Given the description of an element on the screen output the (x, y) to click on. 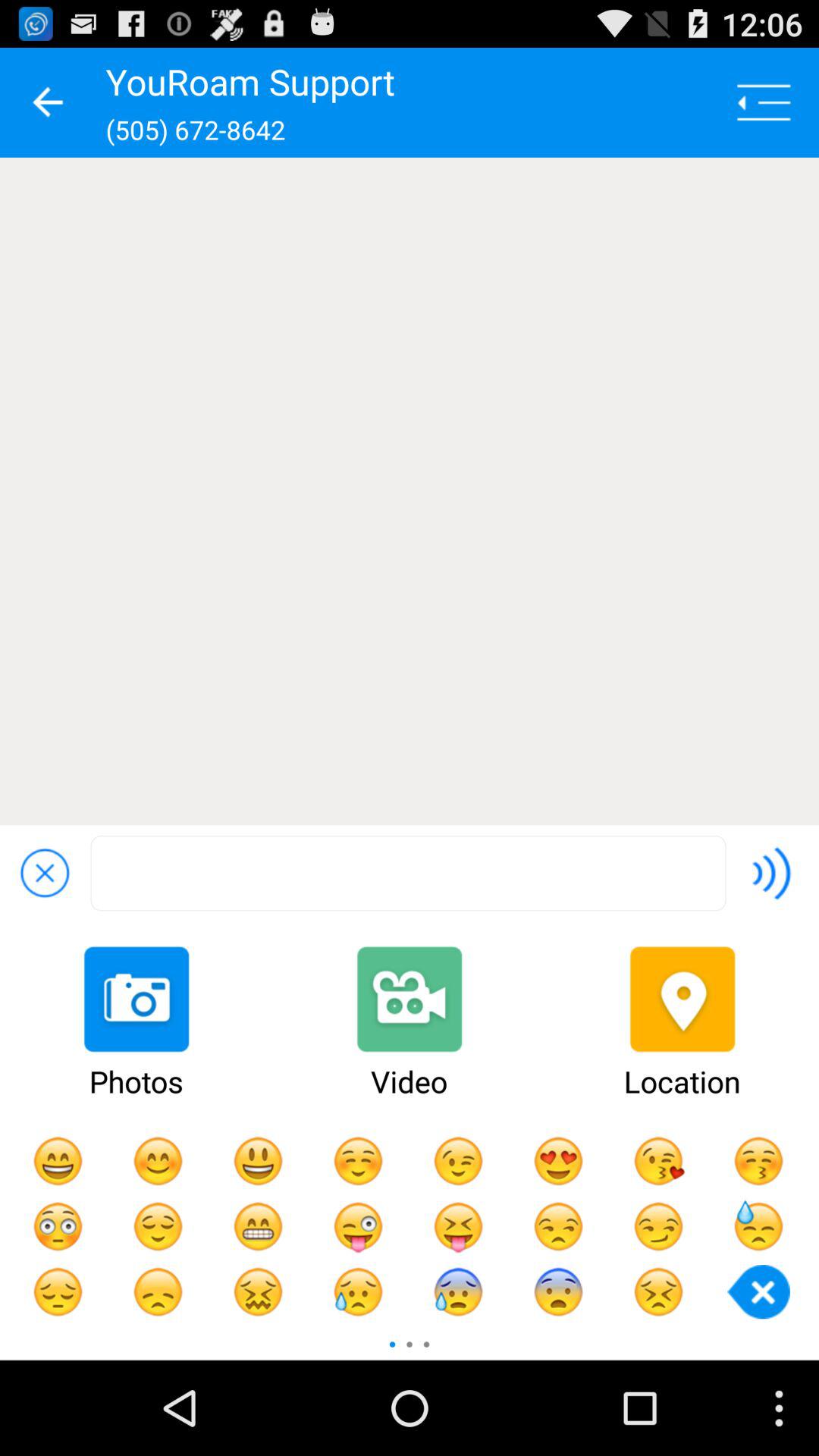
enter text (408, 873)
